Given the description of an element on the screen output the (x, y) to click on. 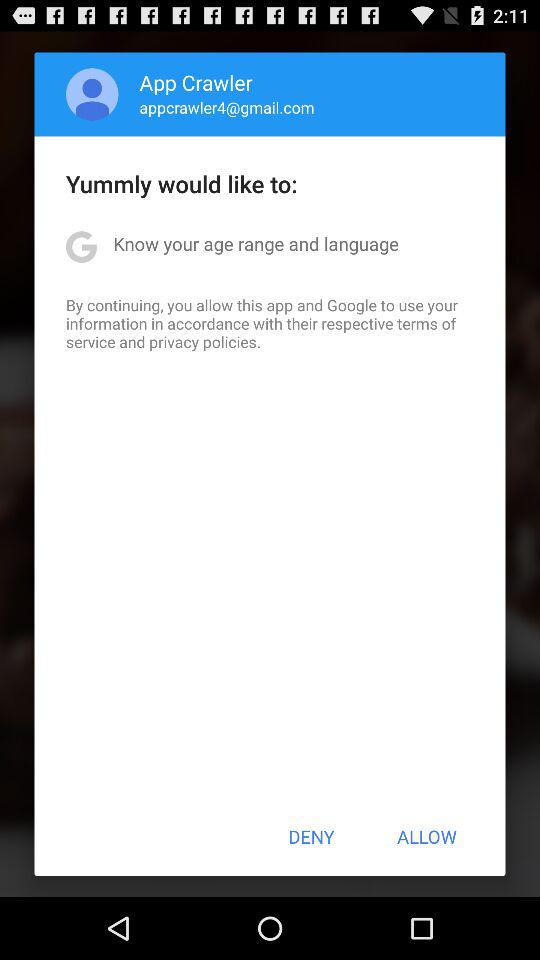
turn on know your age app (255, 243)
